Given the description of an element on the screen output the (x, y) to click on. 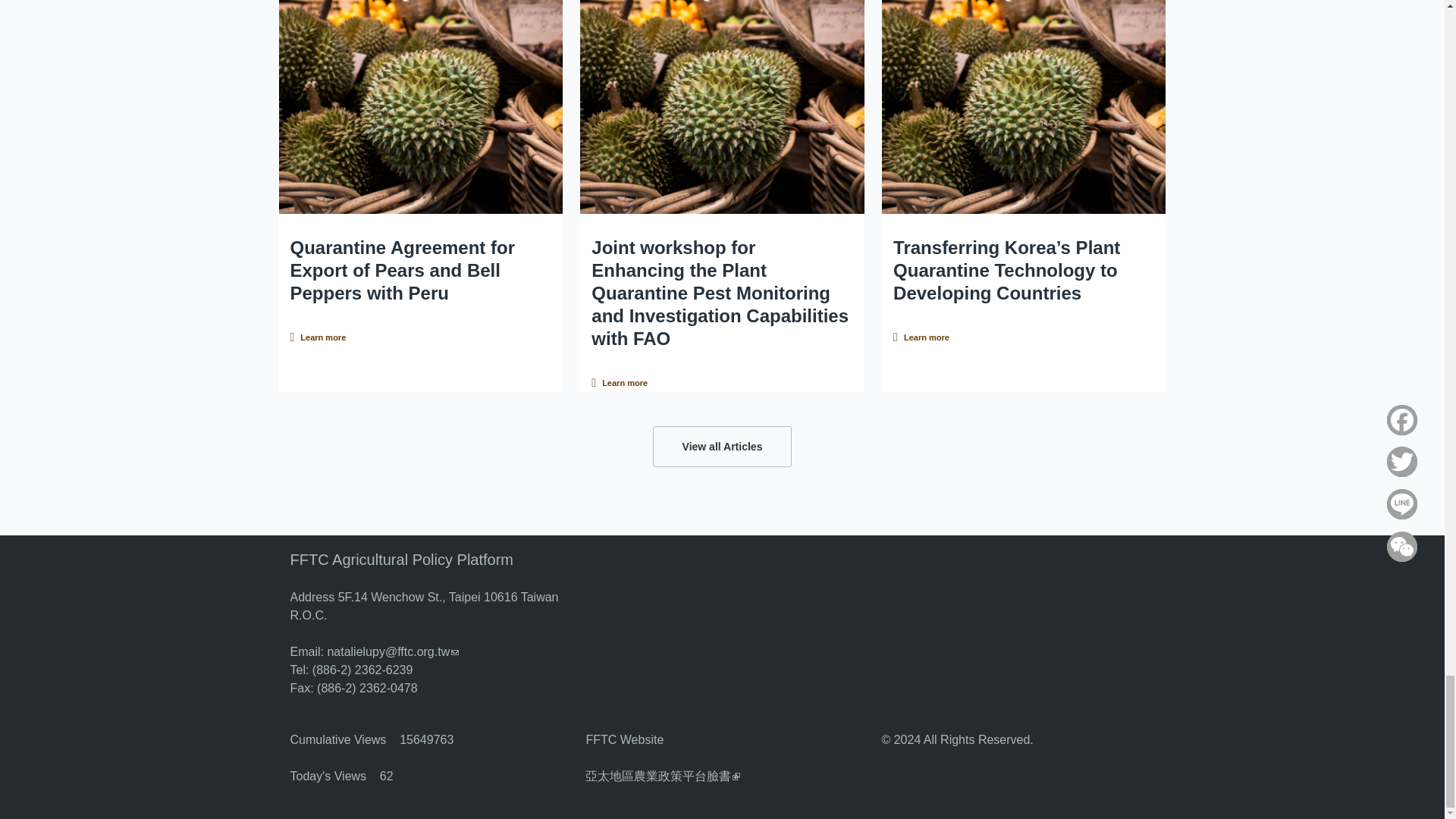
Learn more (921, 337)
View all Articles (722, 445)
Learn more (619, 382)
Learn more (317, 337)
